Given the description of an element on the screen output the (x, y) to click on. 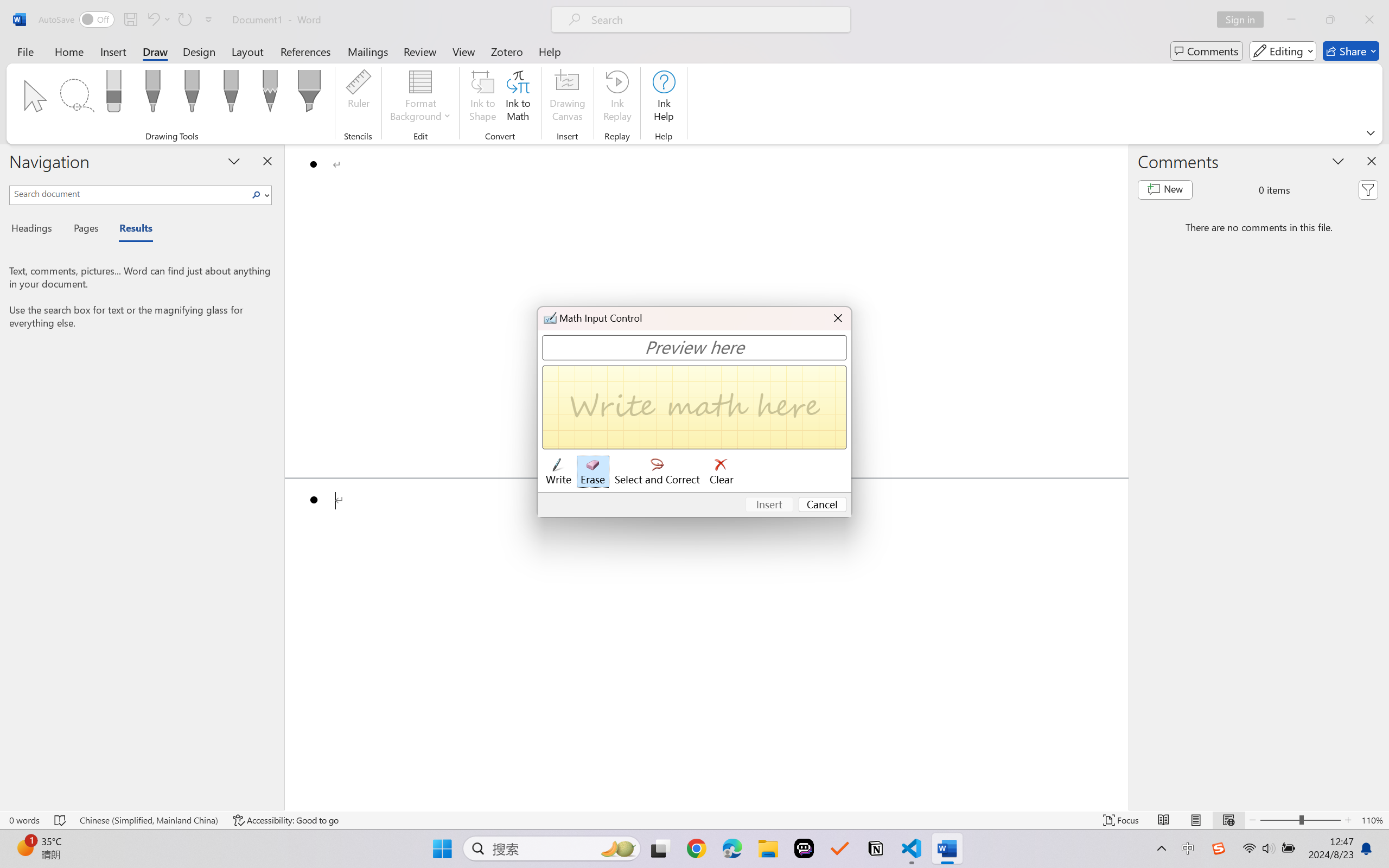
Cancel (822, 504)
